Given the description of an element on the screen output the (x, y) to click on. 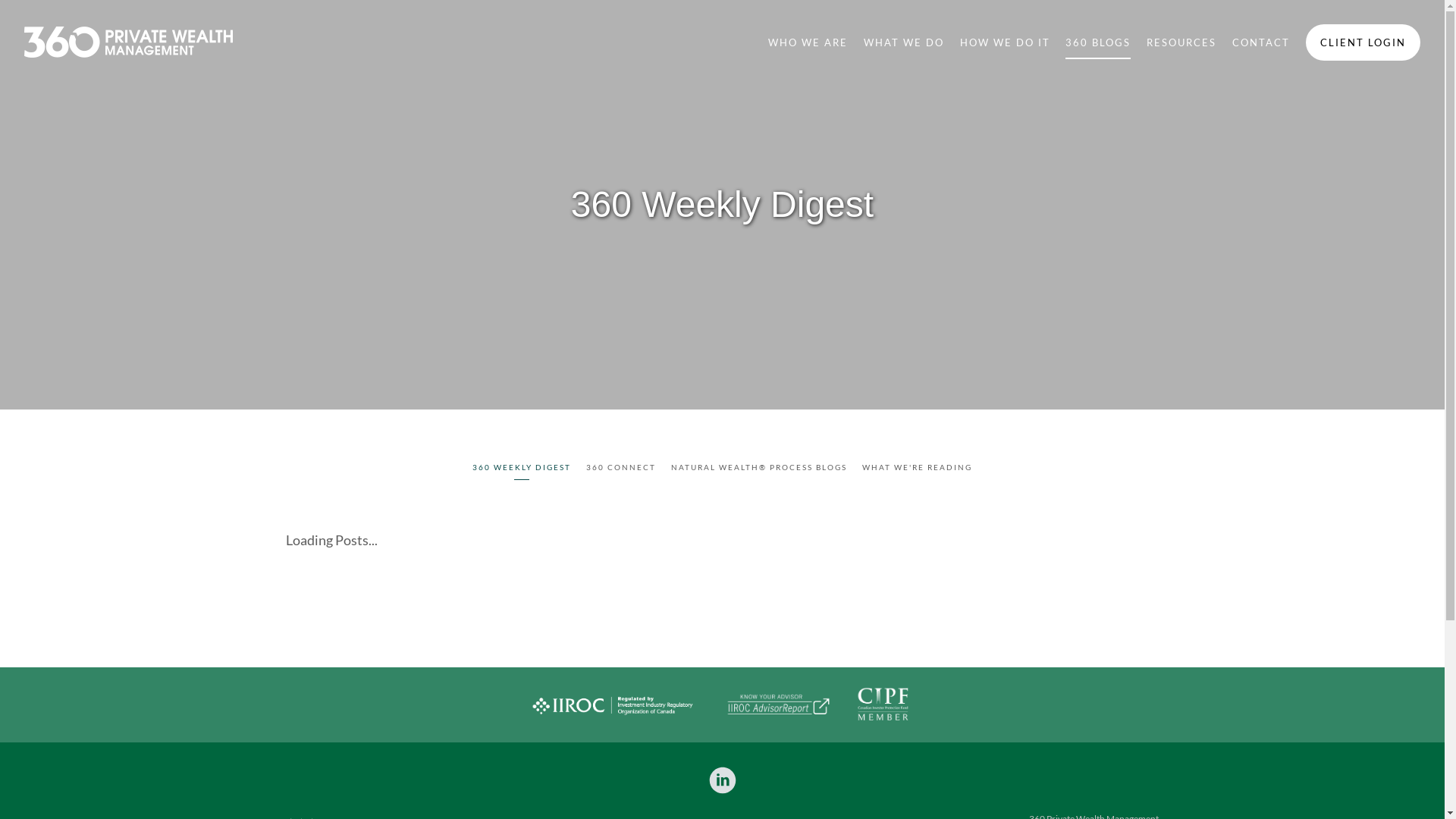
RESOURCES Element type: text (1181, 41)
WHO WE ARE Element type: text (807, 41)
HOW WE DO IT Element type: text (1005, 41)
      Element type: text (722, 779)
CONTACT Element type: text (1260, 41)
CLIENT LOGIN Element type: text (1362, 42)
WHAT WE'RE READING Element type: text (917, 469)
360 CONNECT Element type: text (620, 469)
360 BLOGS Element type: text (1097, 41)
WHAT WE DO Element type: text (903, 41)
360 WEEKLY DIGEST Element type: text (521, 469)
